Given the description of an element on the screen output the (x, y) to click on. 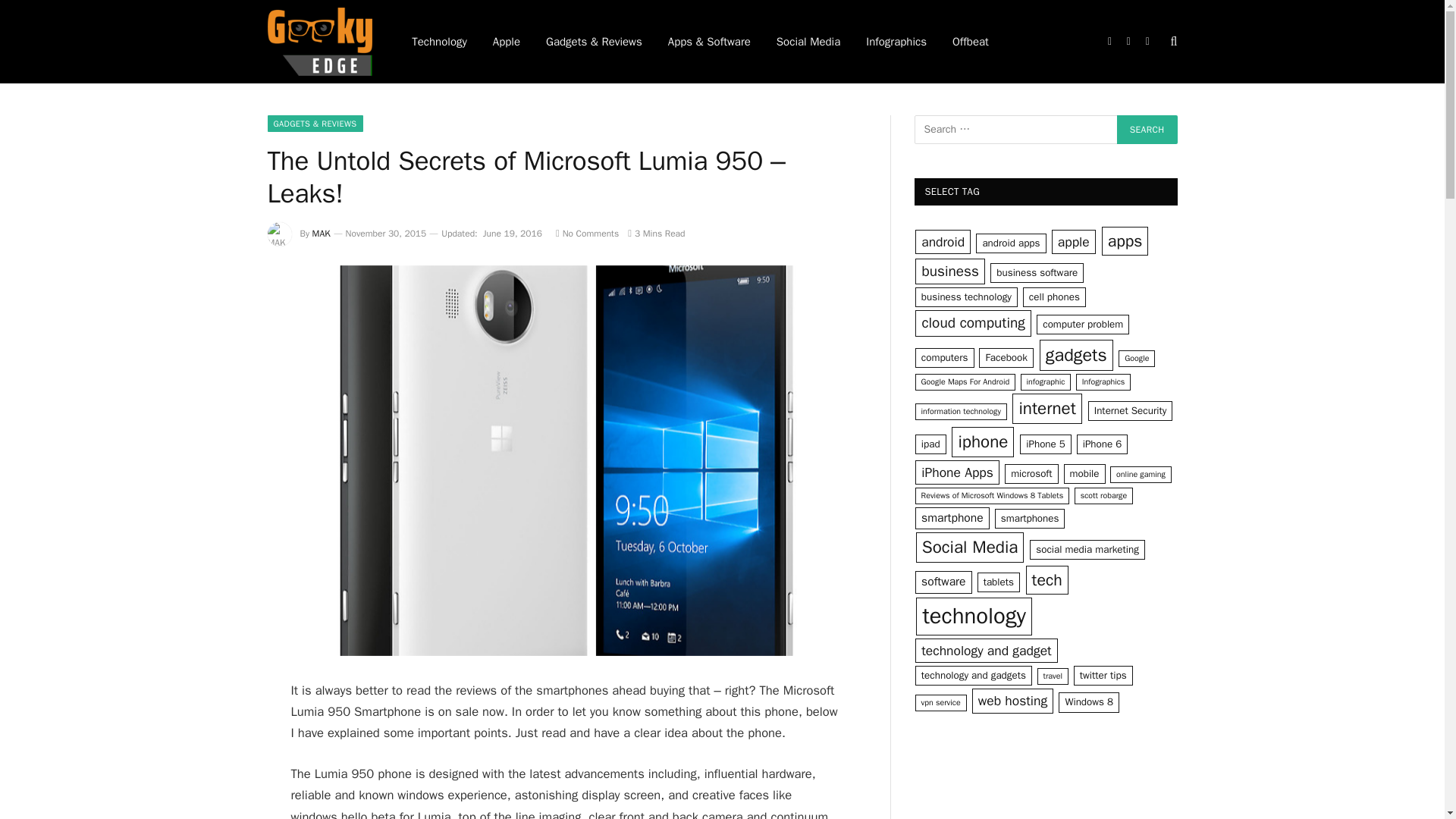
Search (1146, 129)
No Comments (587, 233)
Search (1146, 129)
Social Media (807, 41)
Infographics (896, 41)
Posts by MAK (321, 233)
Technology (439, 41)
MAK (321, 233)
